Given the description of an element on the screen output the (x, y) to click on. 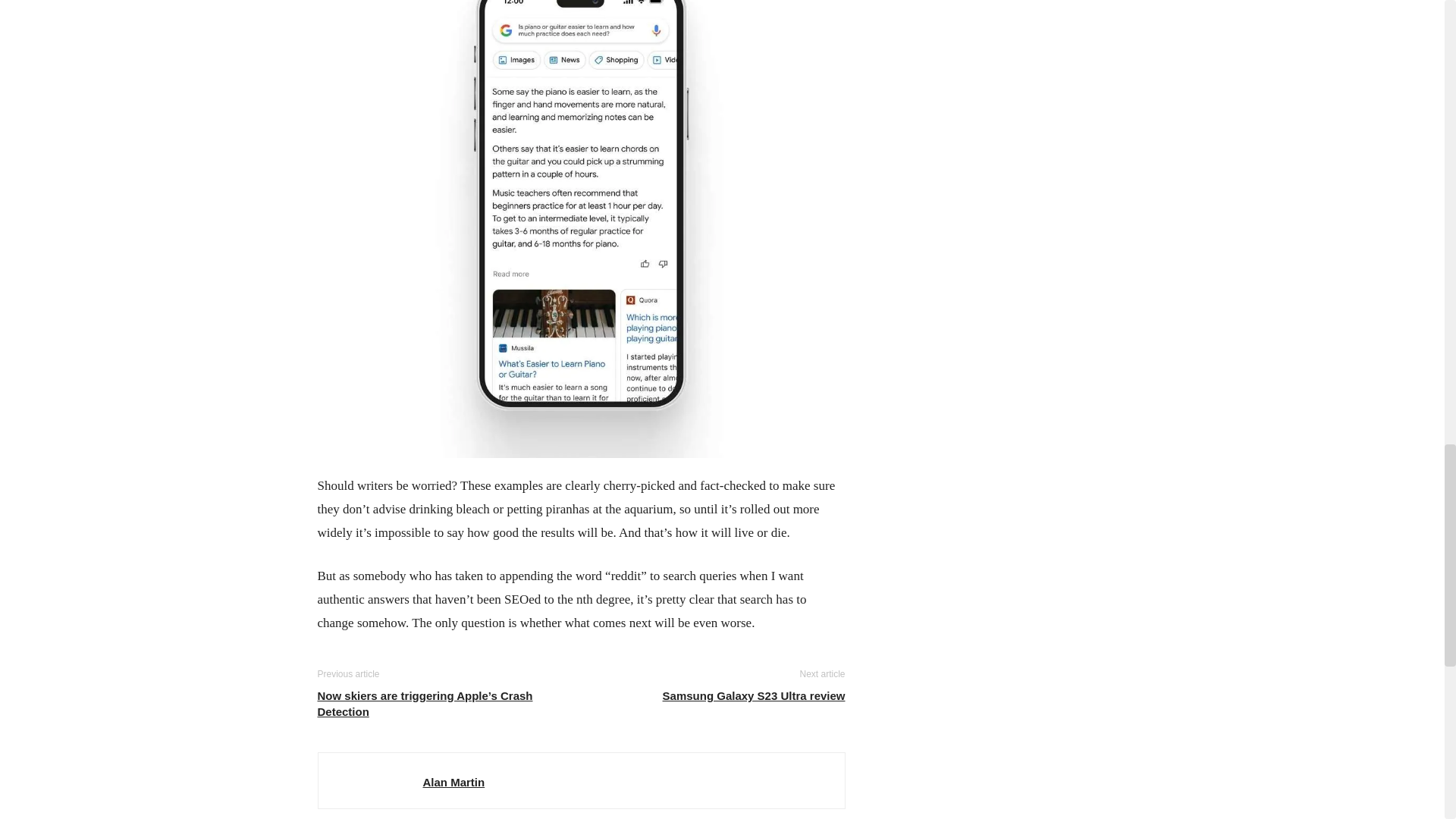
Alan Martin (453, 781)
Samsung Galaxy S23 Ultra review (753, 695)
